Given the description of an element on the screen output the (x, y) to click on. 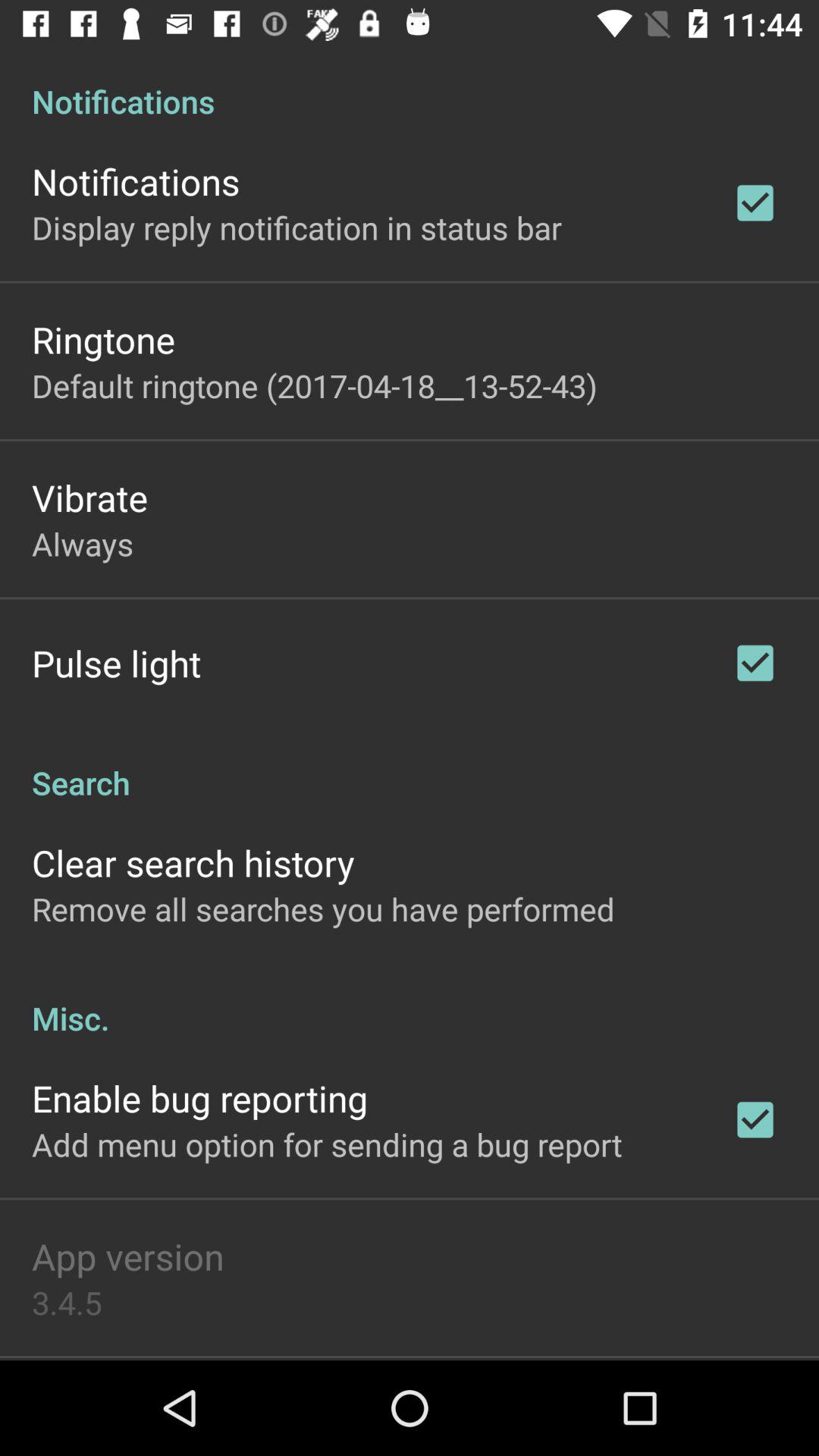
swipe until pulse light (116, 662)
